Given the description of an element on the screen output the (x, y) to click on. 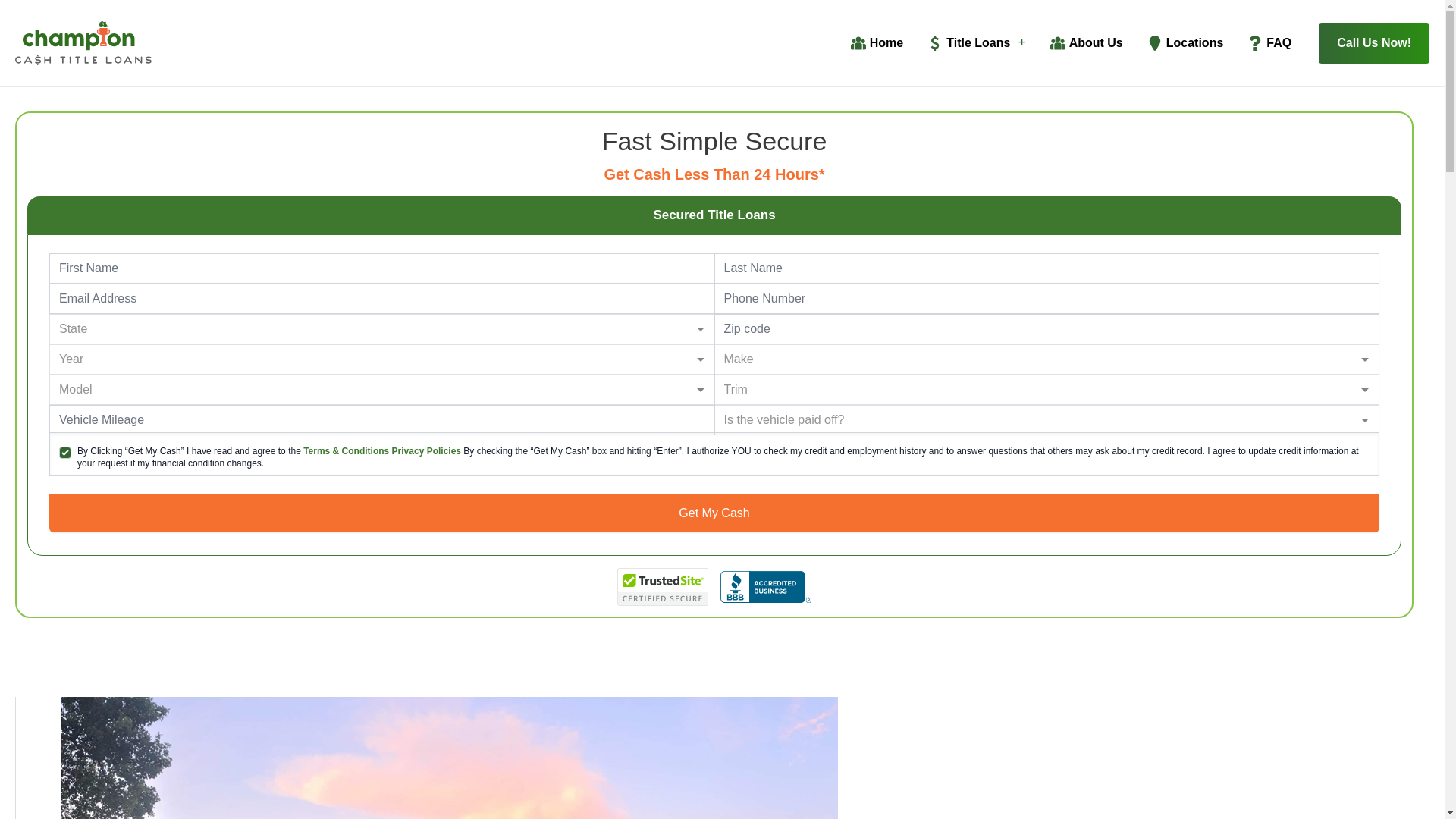
Get My Cash (713, 513)
FAQ (1268, 43)
on (65, 452)
Privacy Policies (427, 450)
Call Us Now! (1374, 42)
Home (876, 43)
About Us (1086, 43)
Title Loans (975, 43)
Locations (1185, 43)
